Given the description of an element on the screen output the (x, y) to click on. 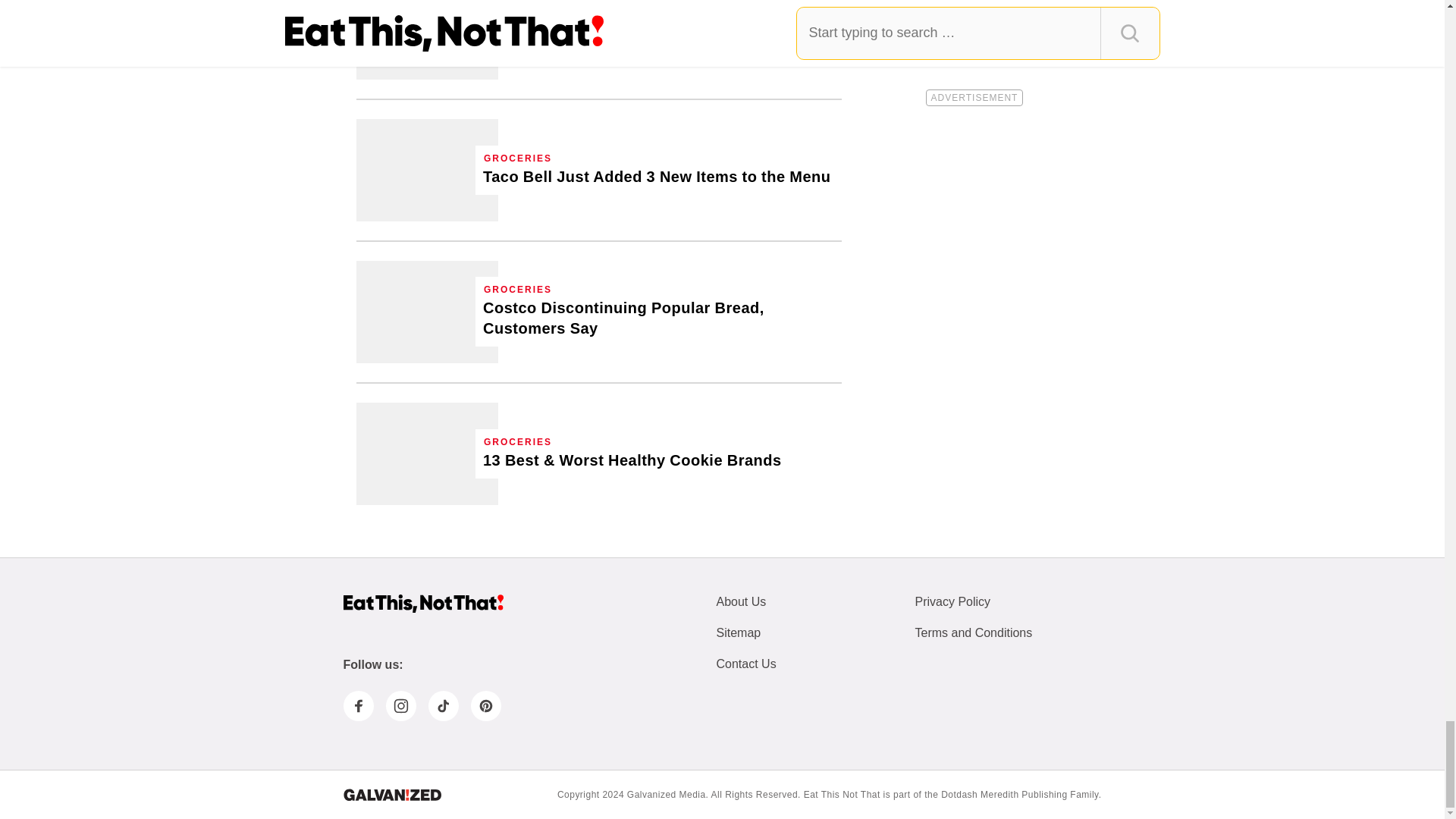
Taco Bell Just Added 3 Exciting New Items to the Menu (656, 177)
Taco Bell Just Added 3 Exciting New Items to the Menu (426, 169)
Costco Is Discontinuing a Popular Bread, Customers Say (426, 312)
Costco Is Discontinuing a Popular Bread, Customers Say (658, 318)
